Given the description of an element on the screen output the (x, y) to click on. 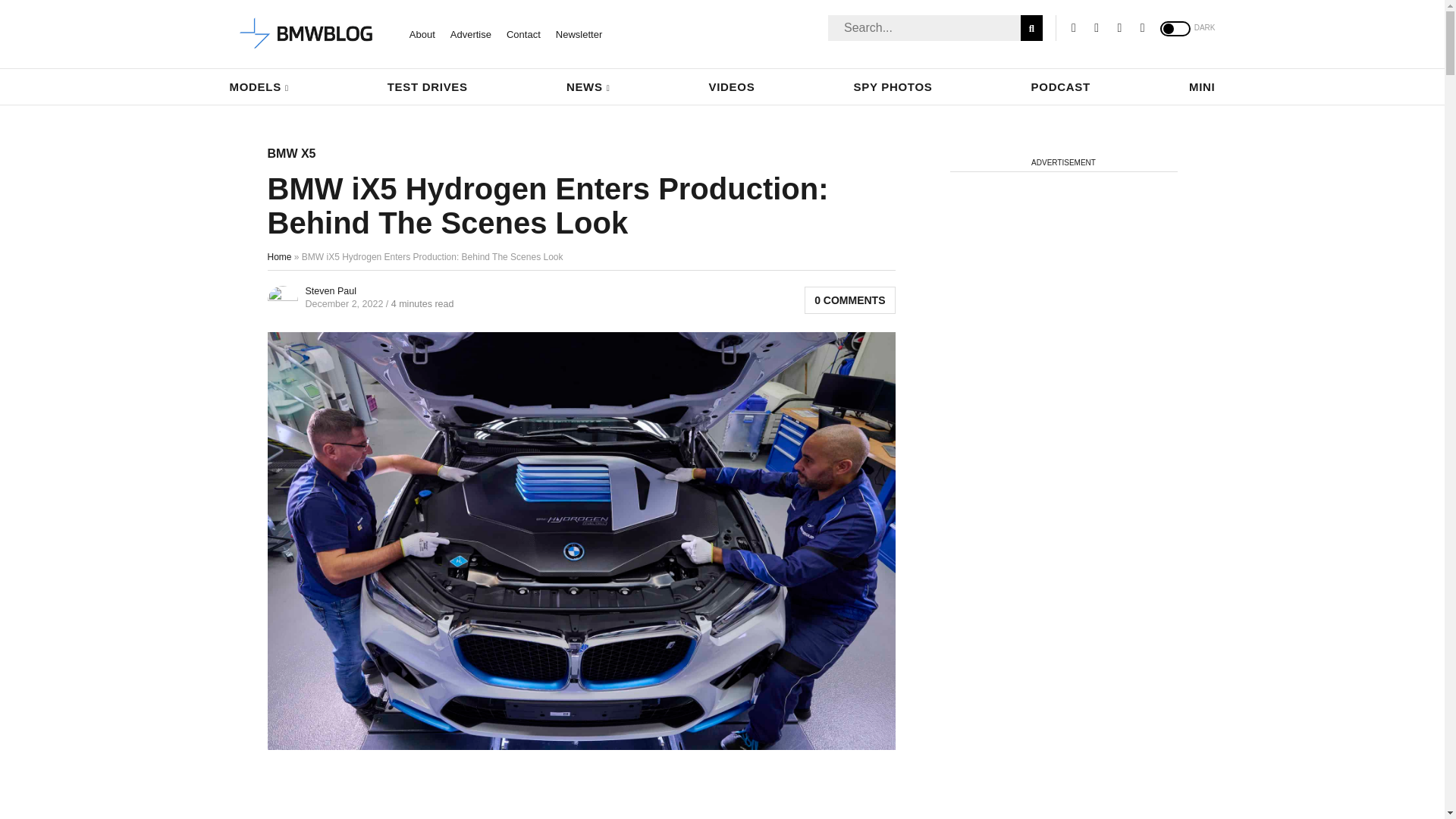
MODELS (258, 86)
Contact (523, 34)
About (422, 34)
Advertise (470, 34)
BMW BLOG (306, 34)
Steven Paul (329, 290)
Newsletter (579, 34)
